Given the description of an element on the screen output the (x, y) to click on. 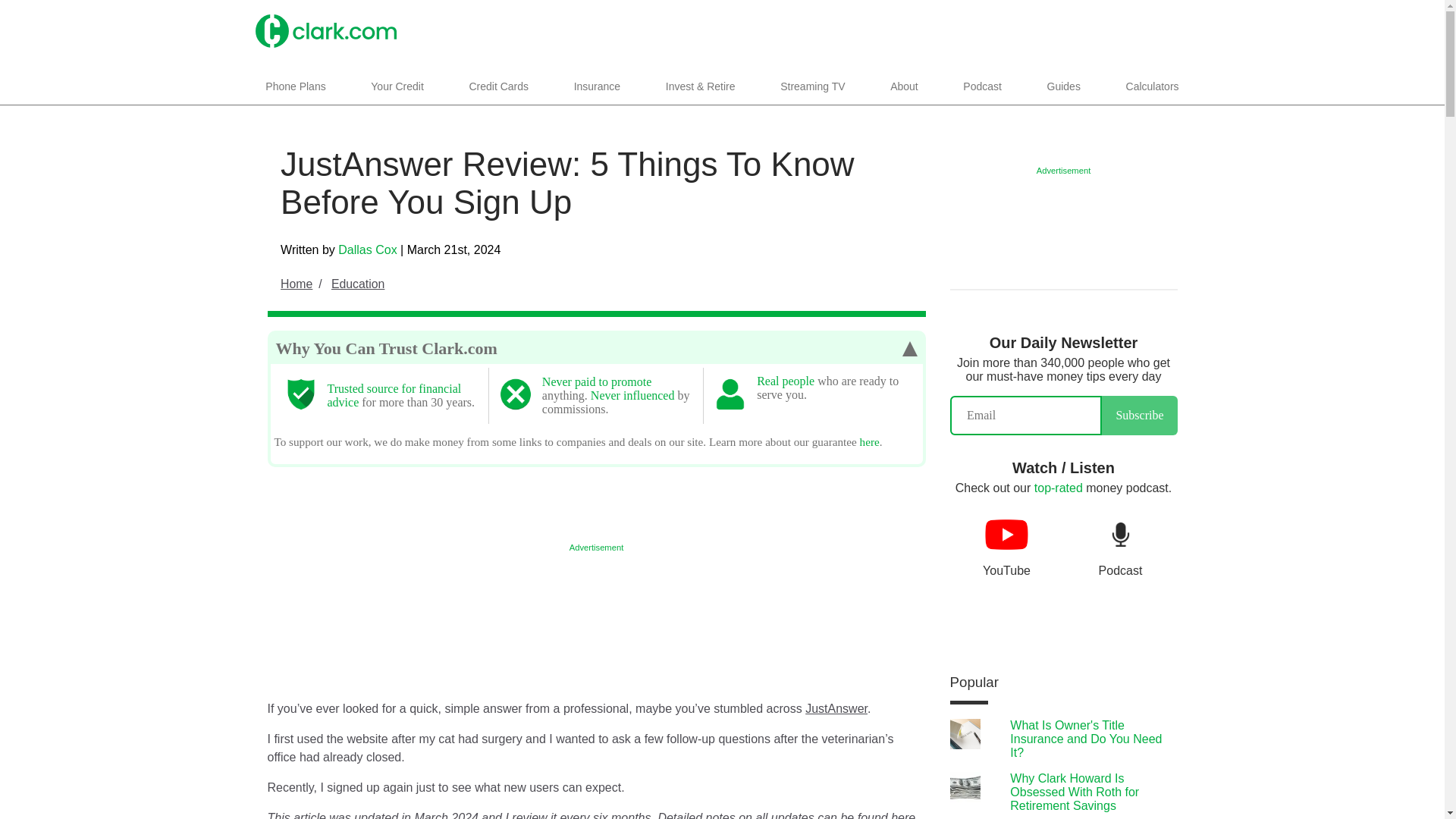
Phone Plans (295, 85)
Your Credit (396, 85)
What Is Owner's Title Insurance and Do You Need It? (1085, 739)
Credit Cards (498, 85)
Home (304, 284)
Clark.com (325, 30)
Clark Home (325, 30)
Education (357, 284)
